Given the description of an element on the screen output the (x, y) to click on. 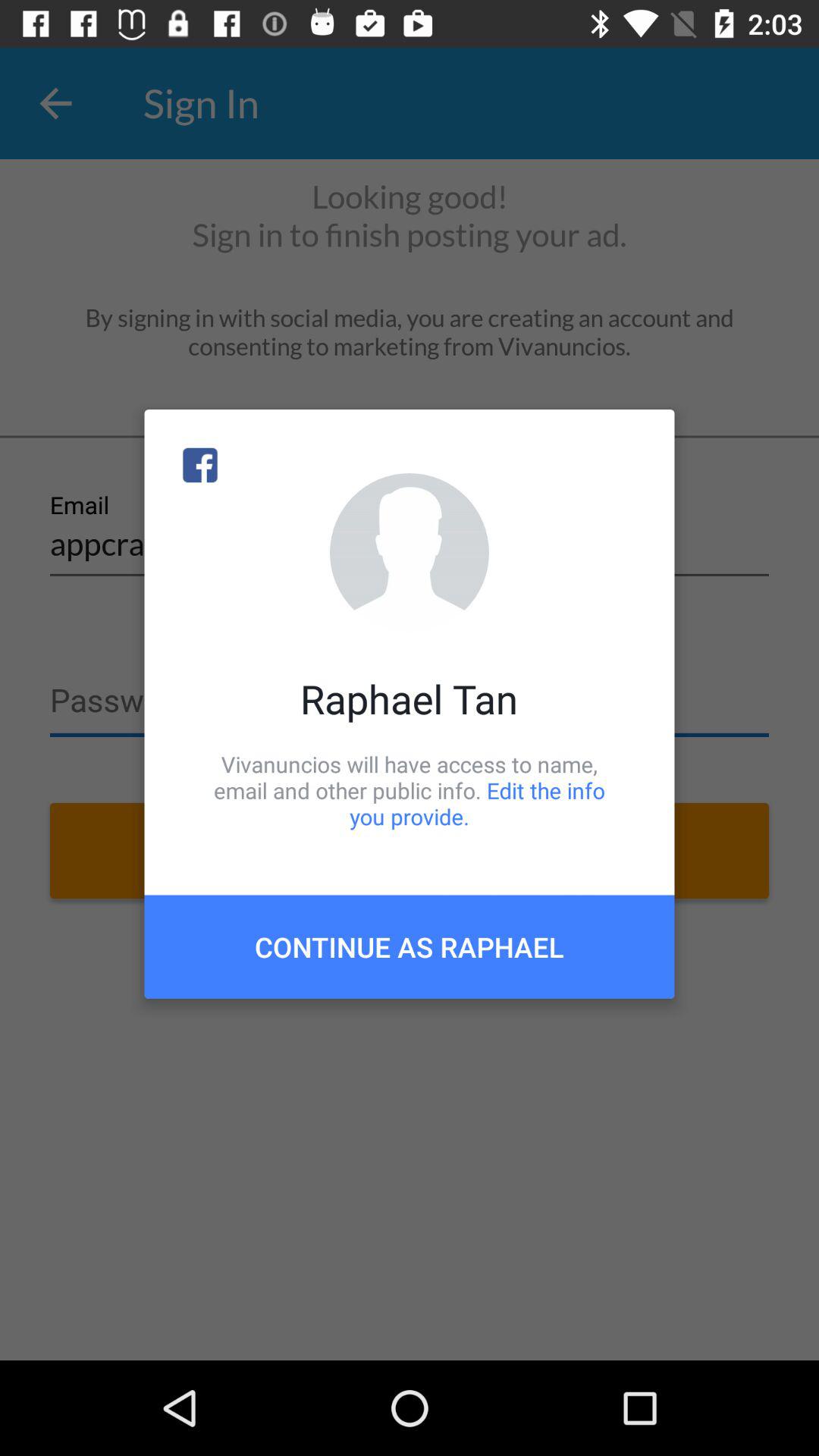
select continue as raphael (409, 946)
